Given the description of an element on the screen output the (x, y) to click on. 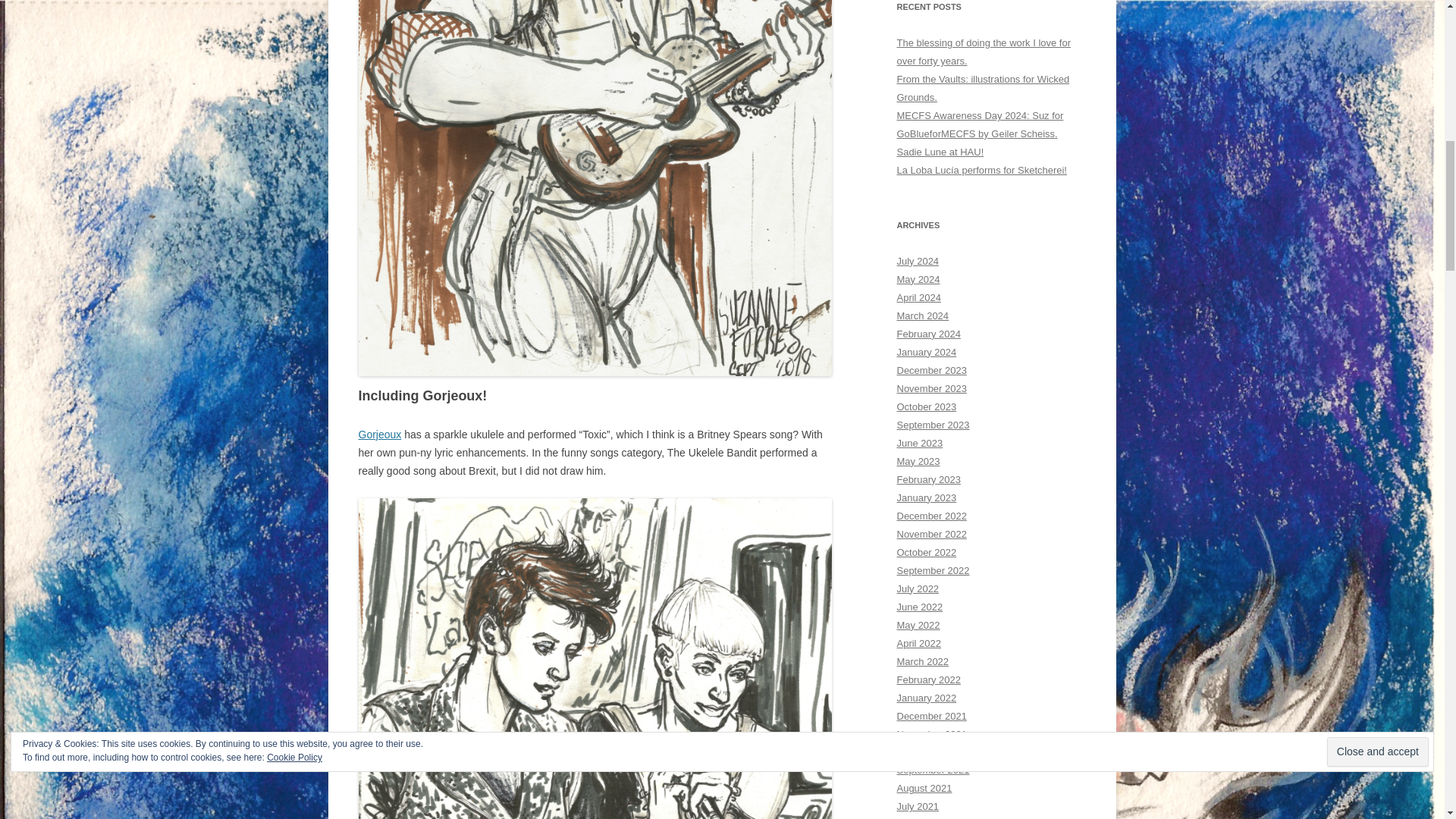
Enter email address (1350, 173)
Subscribe (1350, 205)
Gorjeoux (379, 434)
